Given the description of an element on the screen output the (x, y) to click on. 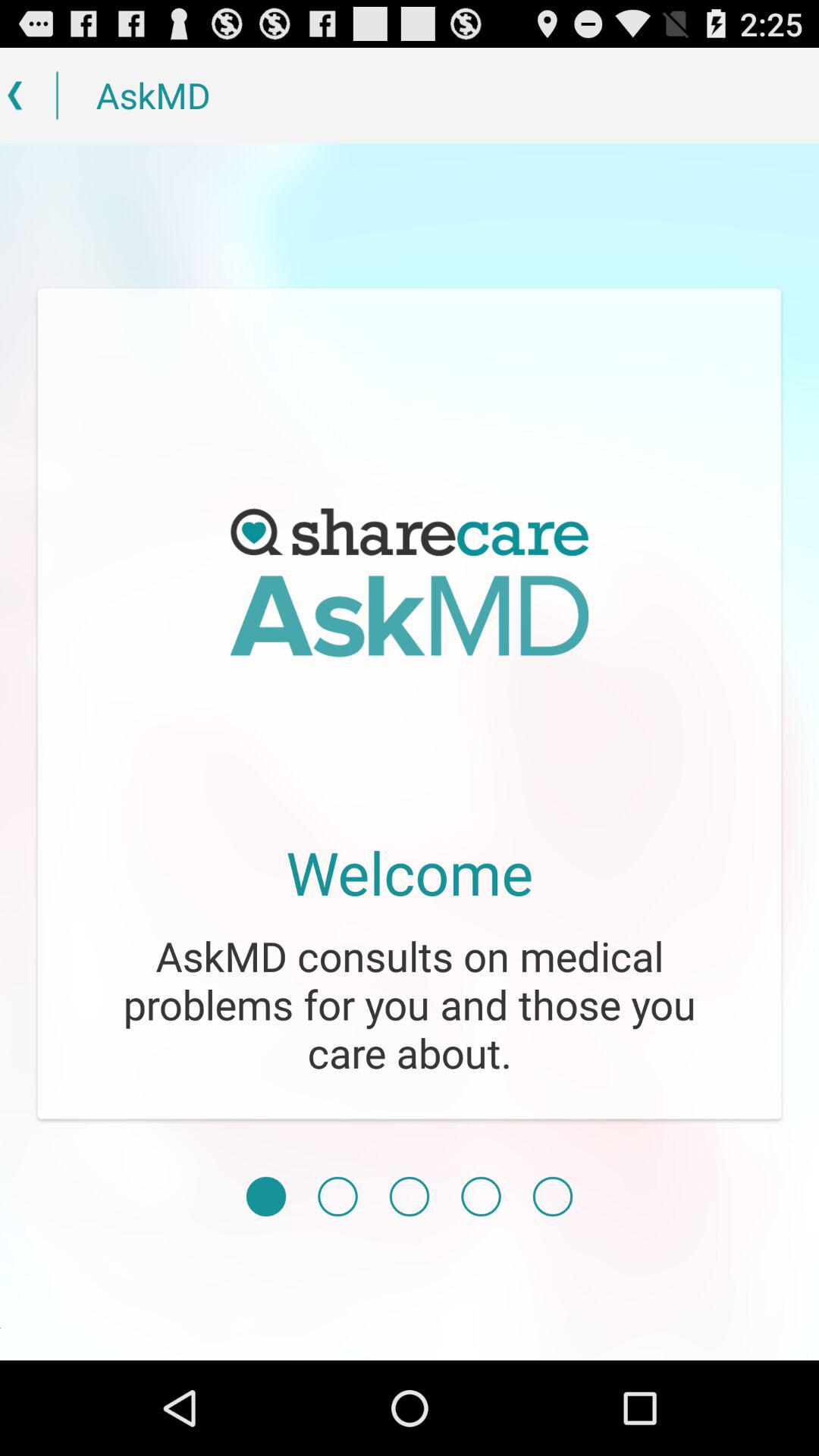
move to the fourth page of the menu (480, 1196)
